Given the description of an element on the screen output the (x, y) to click on. 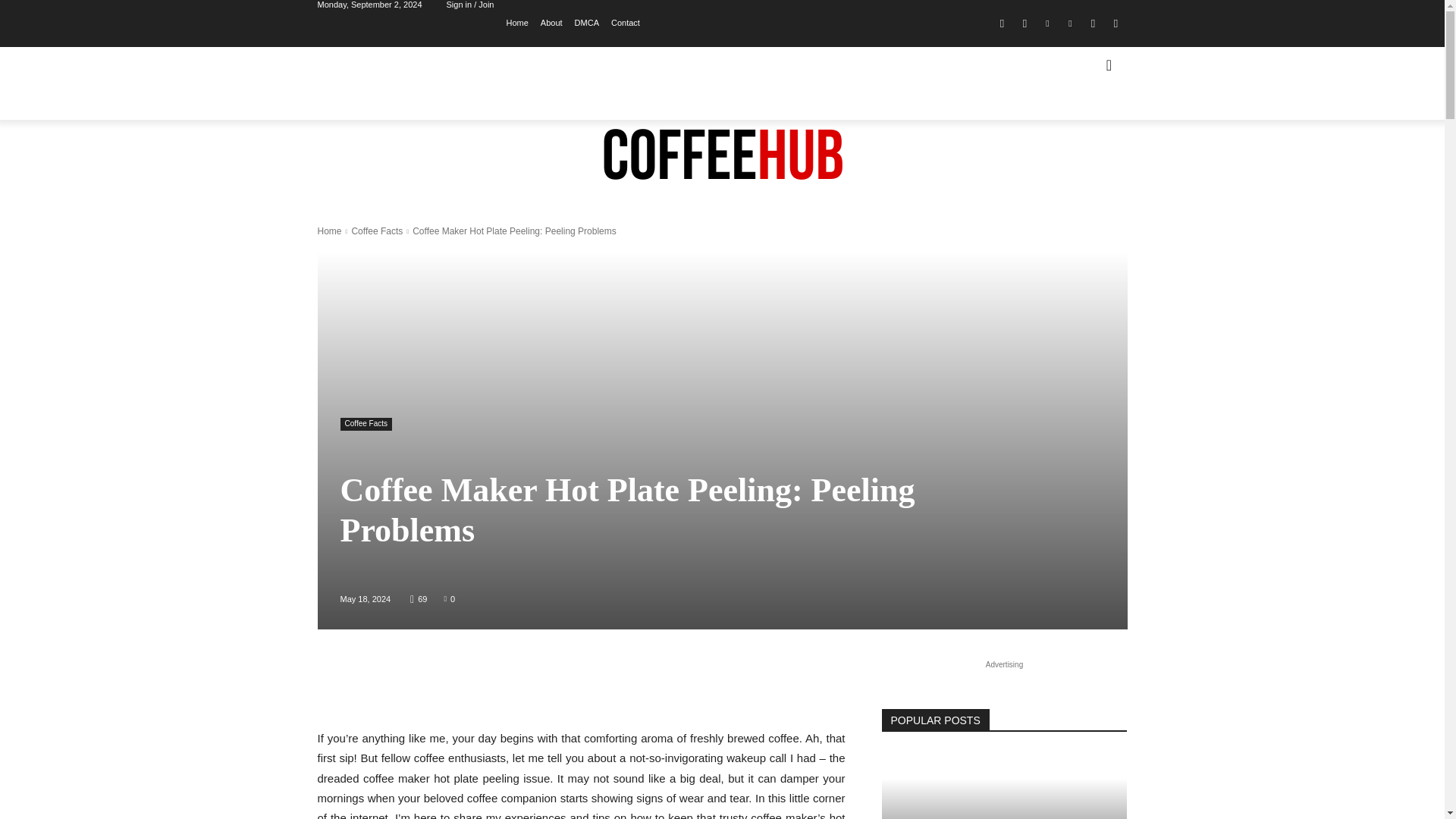
Coffee Facts (365, 423)
Pinterest (1069, 23)
DMCA (586, 22)
Home (328, 231)
About (551, 22)
Contact (625, 22)
Linkedin (1046, 23)
Twitter (1114, 23)
Home (516, 22)
View all posts in Coffee Facts (376, 231)
